Given the description of an element on the screen output the (x, y) to click on. 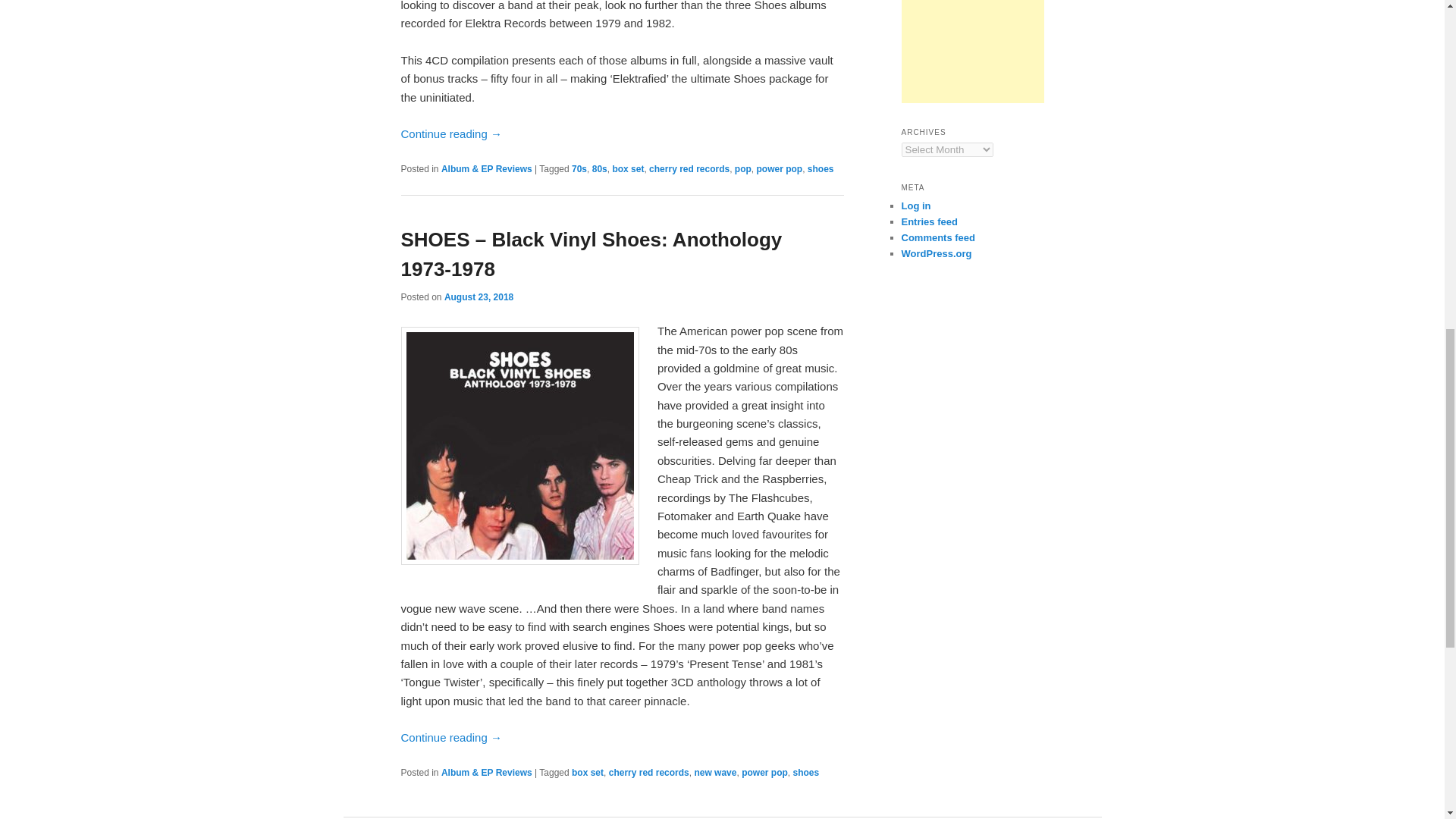
Log in (915, 205)
shoes (821, 168)
80s (599, 168)
Entries feed (928, 221)
70s (579, 168)
power pop (780, 168)
cherry red records (689, 168)
new wave (715, 772)
Advertisement (972, 51)
box set (588, 772)
cherry red records (648, 772)
box set (627, 168)
power pop (764, 772)
3:42 pm (478, 296)
August 23, 2018 (478, 296)
